Given the description of an element on the screen output the (x, y) to click on. 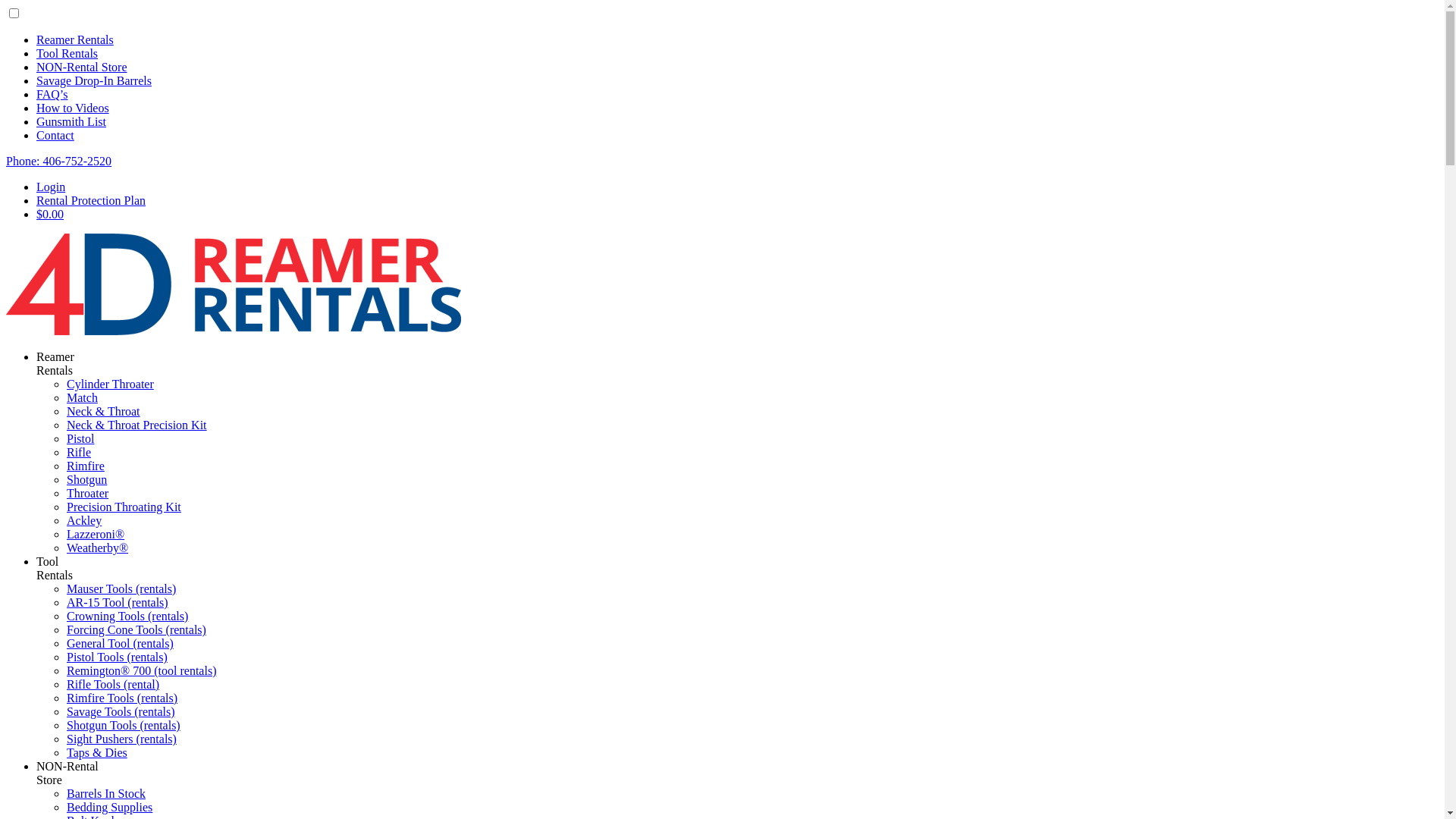
Mauser Tools (rentals) Element type: text (120, 588)
Taps & Dies Element type: text (96, 752)
Crowning Tools (rentals) Element type: text (127, 615)
Ackley Element type: text (83, 520)
Gunsmith List Element type: text (71, 121)
Pistol Tools (rentals) Element type: text (116, 656)
Phone: 406-752-2520 Element type: text (58, 160)
Tool Rentals Element type: text (66, 53)
Throater Element type: text (87, 492)
Savage Drop-In Barrels Element type: text (93, 80)
Precision Throating Kit Element type: text (123, 506)
Sight Pushers (rentals) Element type: text (121, 738)
Cylinder Throater Element type: text (109, 383)
NON-Rental Store Element type: text (81, 66)
Shotgun Tools (rentals) Element type: text (123, 724)
Neck & Throat Precision Kit Element type: text (136, 424)
Rimfire Tools (rentals) Element type: text (121, 697)
Tool
Rentals Element type: text (54, 568)
Pistol Element type: text (80, 438)
How to Videos Element type: text (72, 107)
$0.00 Element type: text (49, 213)
Rifle Tools (rental) Element type: text (112, 683)
Reamer Rentals Element type: text (74, 39)
Contact Element type: text (55, 134)
General Tool (rentals) Element type: text (119, 643)
Forcing Cone Tools (rentals) Element type: text (136, 629)
Shotgun Element type: text (86, 479)
Rifle Element type: text (78, 451)
Rental Protection Plan Element type: text (90, 200)
Bedding Supplies Element type: text (109, 806)
Match Element type: text (81, 397)
Reamer
Rentals Element type: text (55, 363)
Login Element type: text (50, 186)
Savage Tools (rentals) Element type: text (120, 711)
NON-Rental
Store Element type: text (67, 772)
Neck & Throat Element type: text (103, 410)
Barrels In Stock Element type: text (105, 793)
Rimfire Element type: text (85, 465)
AR-15 Tool (rentals) Element type: text (117, 602)
